Given the description of an element on the screen output the (x, y) to click on. 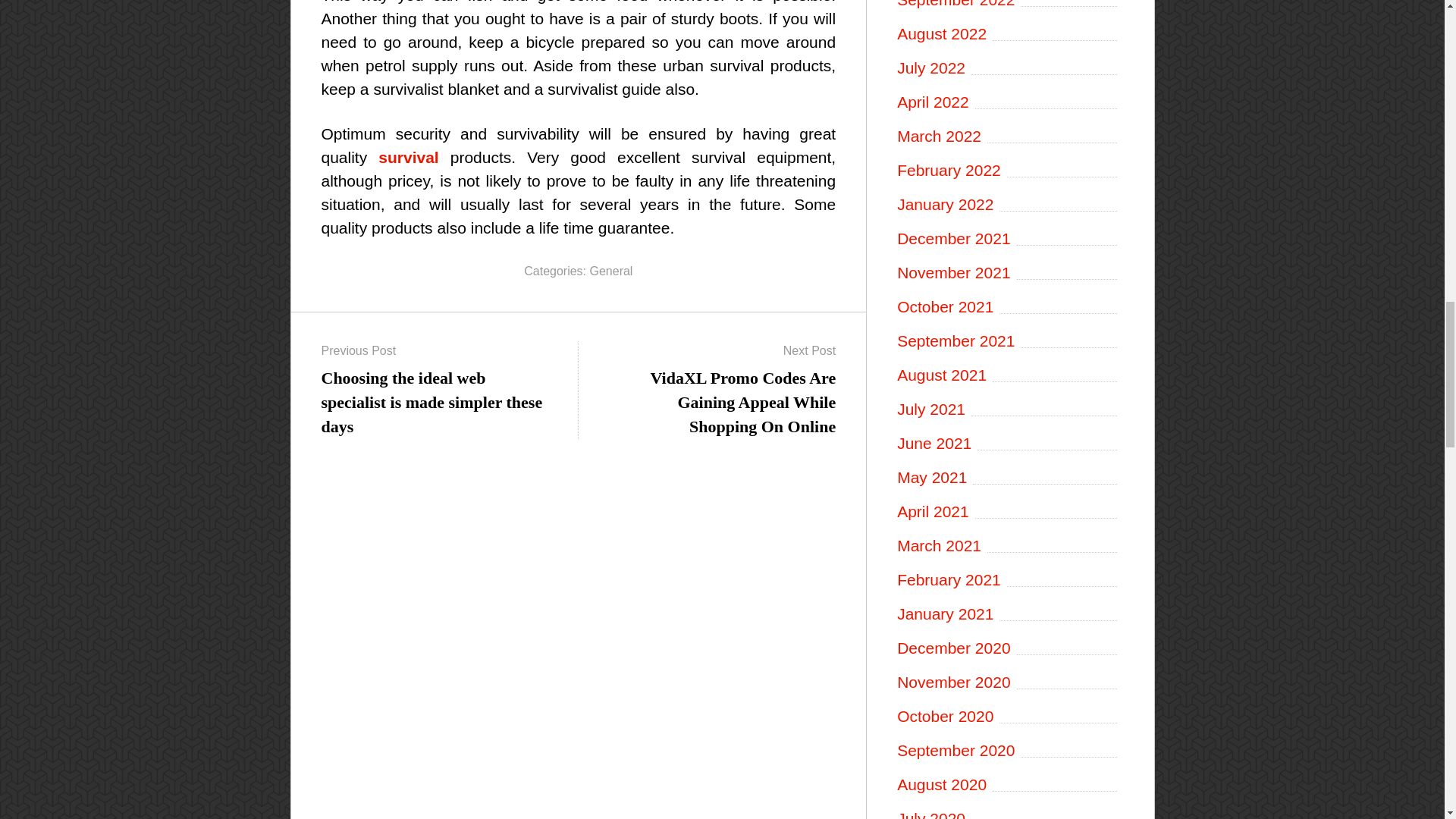
survival (408, 157)
General (611, 270)
